Given the description of an element on the screen output the (x, y) to click on. 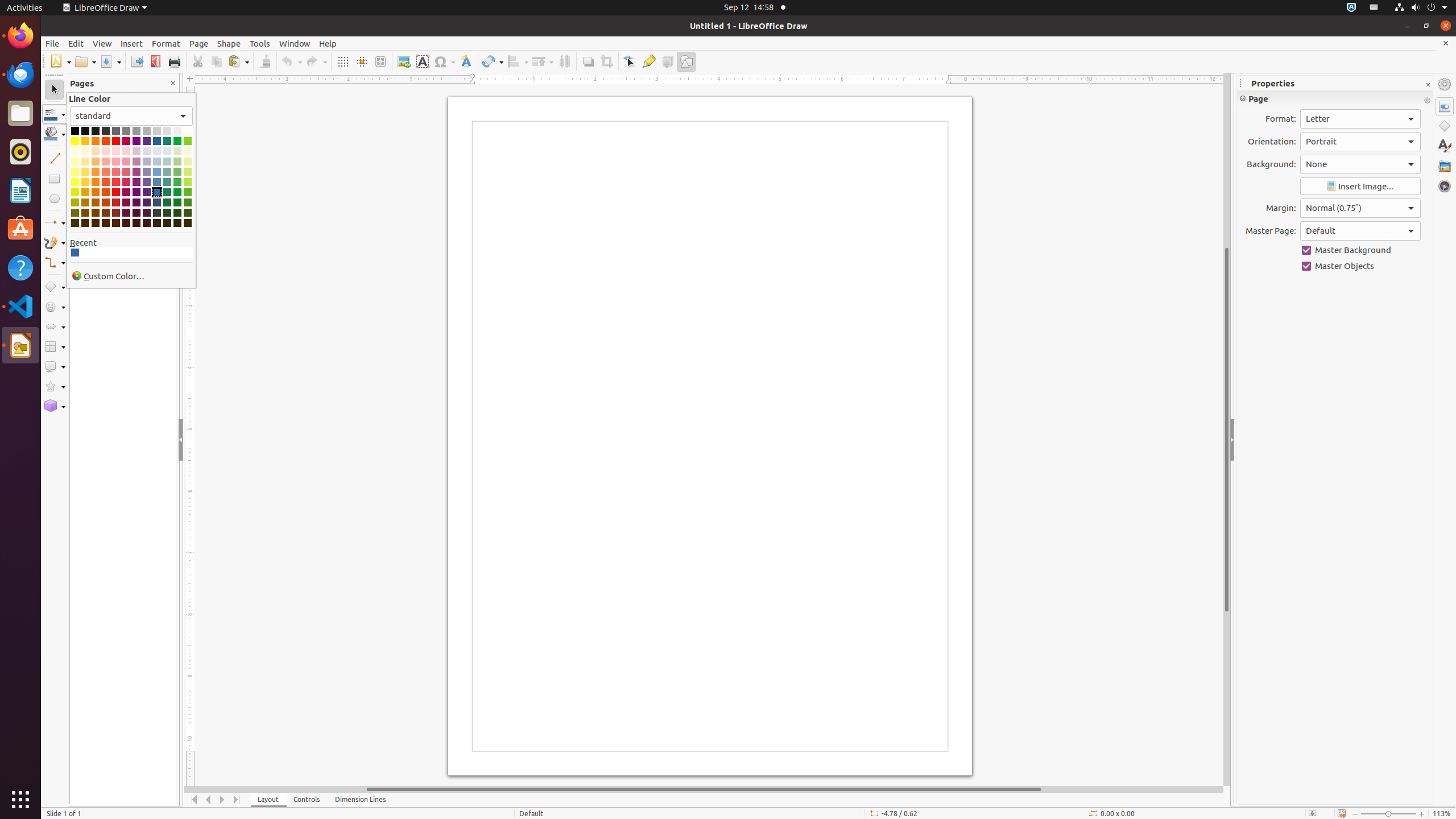
Master Background Element type: check-box (1360, 249)
Dark Purple 4 Element type: list-item (136, 222)
Move To Home Element type: push-button (194, 799)
Fill Color Element type: push-button (146, 81)
Dark Magenta 1 Element type: list-item (126, 192)
